Given the description of an element on the screen output the (x, y) to click on. 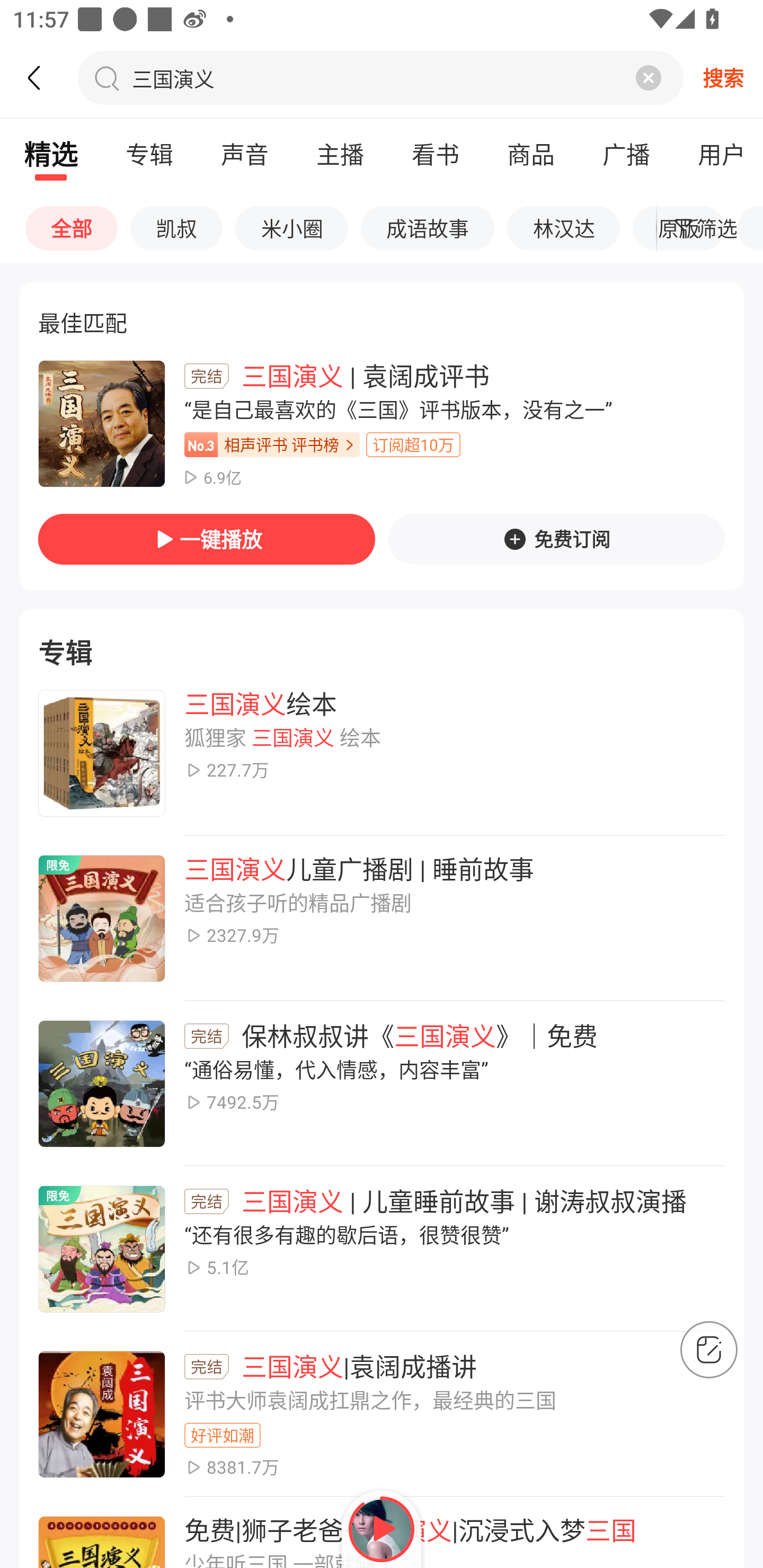
返回 (43, 77)
已经选择搜索功能,当前搜索框内容为三国演义 三国演义 清除搜索内容 (380, 77)
清除搜索内容 (648, 77)
搜索 (723, 77)
三国演义 (175, 77)
精选 (50, 154)
专辑 (148, 154)
声音 (244, 154)
主播 (339, 154)
看书 (434, 154)
商品 (530, 154)
广播 (625, 154)
用户 (714, 154)
全部 (71, 227)
凯叔 (176, 227)
米小圈 (291, 227)
成语故事 (427, 227)
林汉达 (563, 227)
No.3 相声评书 评书榜 (272, 444)
一键播放 立即收听 (206, 539)
免费订阅 (555, 539)
专辑 (381, 630)
三国演义绘本 狐狸家 三国演义 绘本 227.7万 (381, 753)
专辑标签 三国演义儿童广播剧 | 睡前故事 适合孩子听的精品广播剧 2327.9万 (381, 918)
   保林叔叔讲《三国演义》｜免费 “通俗易懂，代入情感，内容丰富” 7492.5万 (381, 1083)
搜索反馈 (708, 1349)
   三国演义|袁阔成播讲 评书大师袁阔成扛鼎之作，最经典的三国 好评如潮 8381.7万 (381, 1414)
免费|狮子老爸·三国演义|沉浸式入梦三国 少年听三国 一部就够了 (381, 1532)
继续播放Alpha-橘子海OrangeOcean (381, 1529)
